Given the description of an element on the screen output the (x, y) to click on. 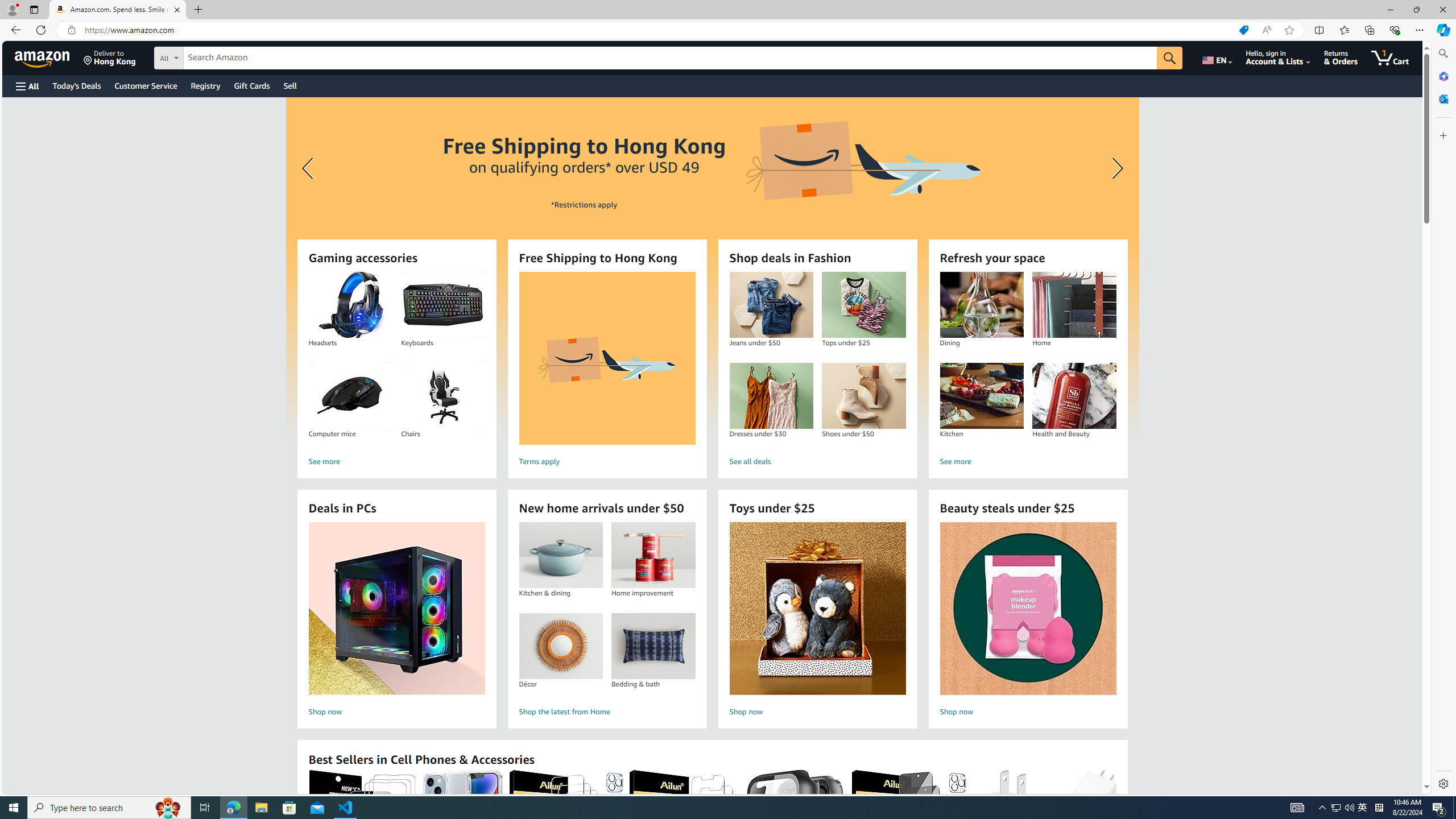
Dining (981, 304)
Kitchen (981, 395)
Chairs (443, 395)
Choose a language for shopping. (1216, 57)
Amazon.com. Spend less. Smile more. (117, 9)
Jeans under $50 (771, 304)
Dresses under $30 (771, 395)
Keyboards (443, 304)
Bedding & bath (652, 645)
Hello, sign in Account & Lists (1278, 57)
